Given the description of an element on the screen output the (x, y) to click on. 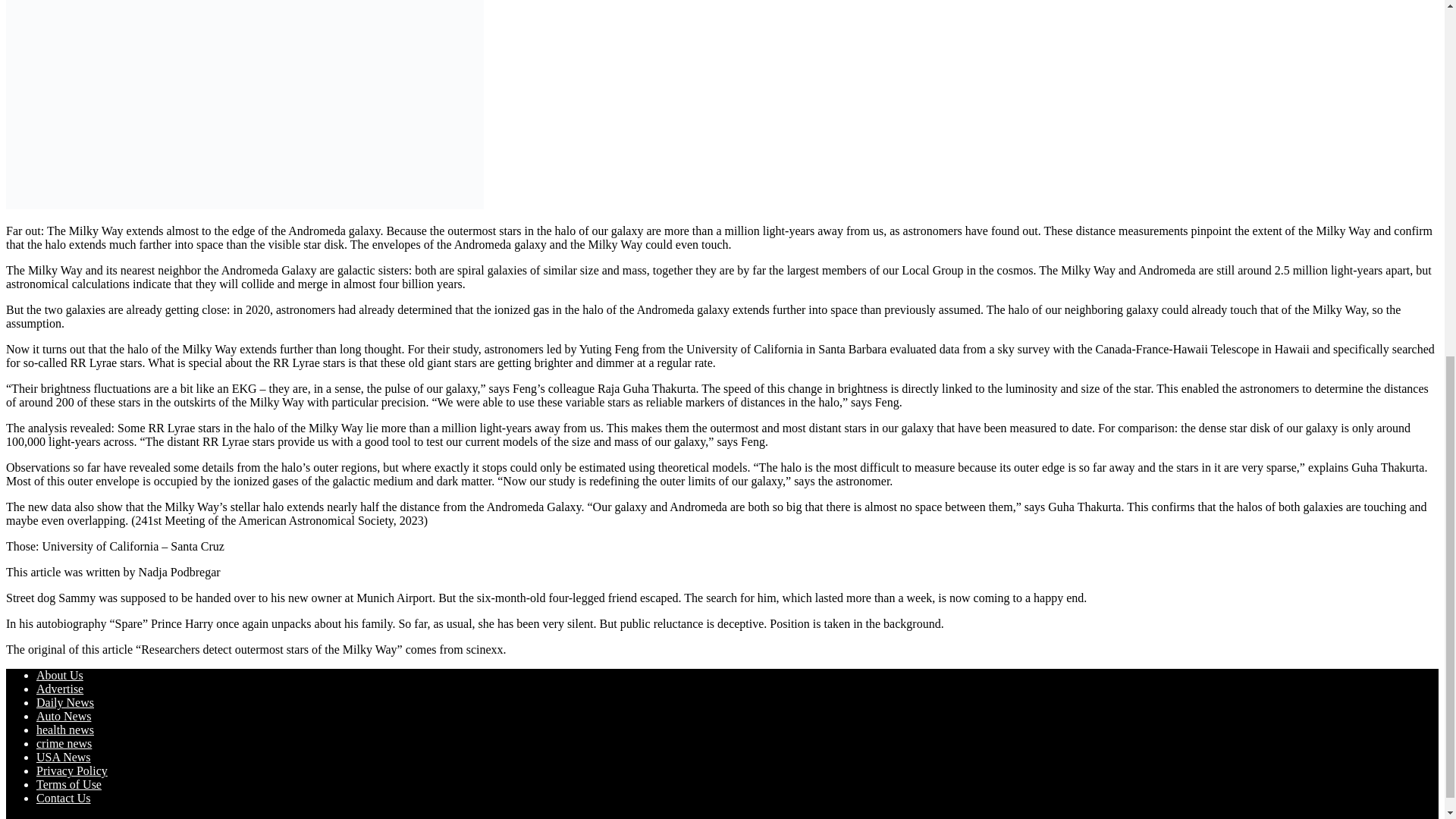
Privacy Policy (71, 770)
Advertise (59, 688)
Terms of Use (68, 784)
About Us (59, 675)
Contact Us (63, 797)
health news (65, 729)
crime news (63, 743)
Auto News (63, 716)
Daily News (65, 702)
resim-512 (244, 104)
